Given the description of an element on the screen output the (x, y) to click on. 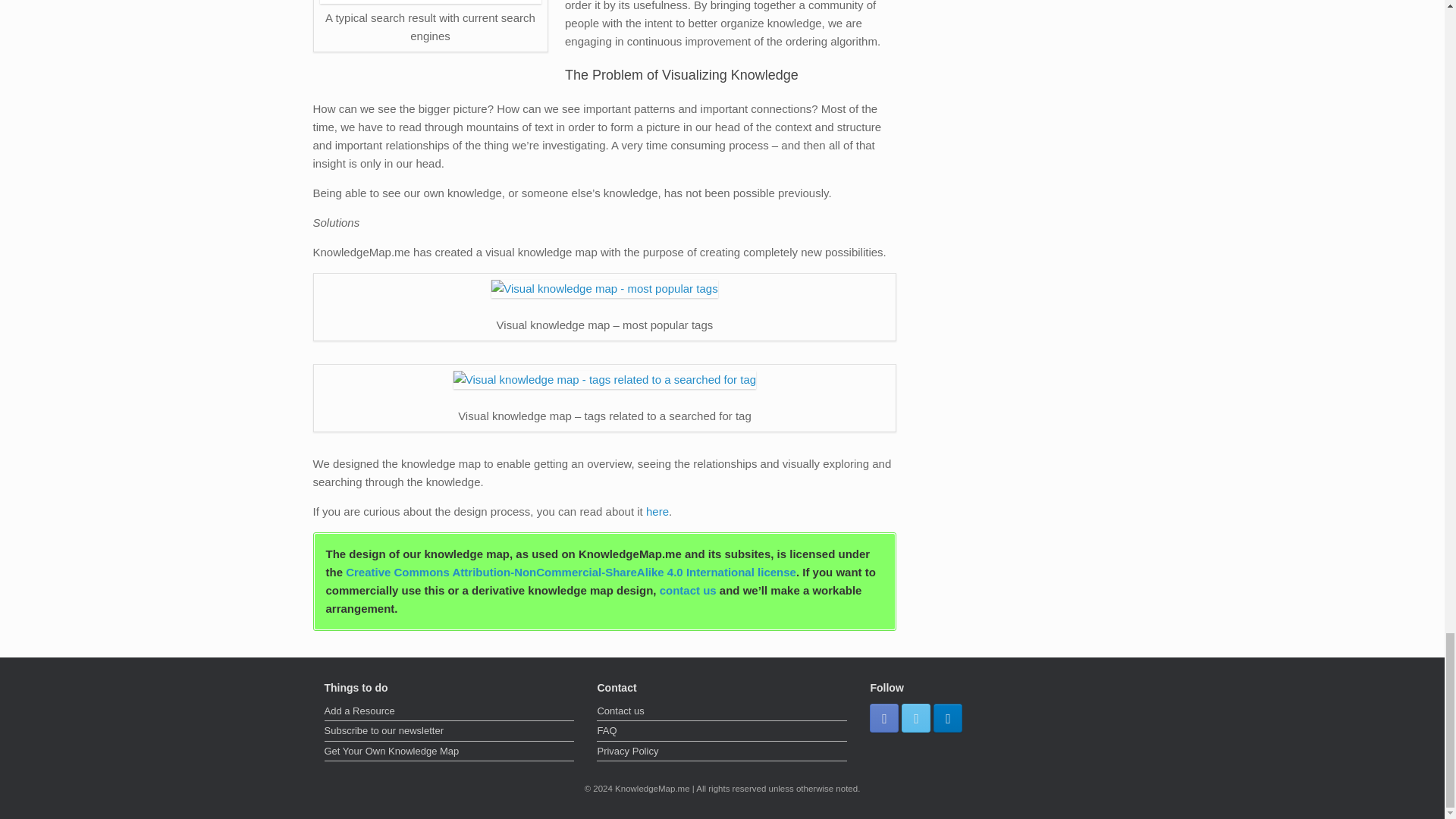
Add a Resource (449, 712)
Contact us (721, 712)
Get Your Own Knowledge Map (449, 752)
Subscribe to our newsletter (449, 732)
here (657, 511)
Privacy Policy (721, 752)
KnowledgeMap.me LinkedIn (947, 717)
contact us (687, 590)
KnowledgeMap.me Facebook (883, 717)
FAQ (721, 732)
